Given the description of an element on the screen output the (x, y) to click on. 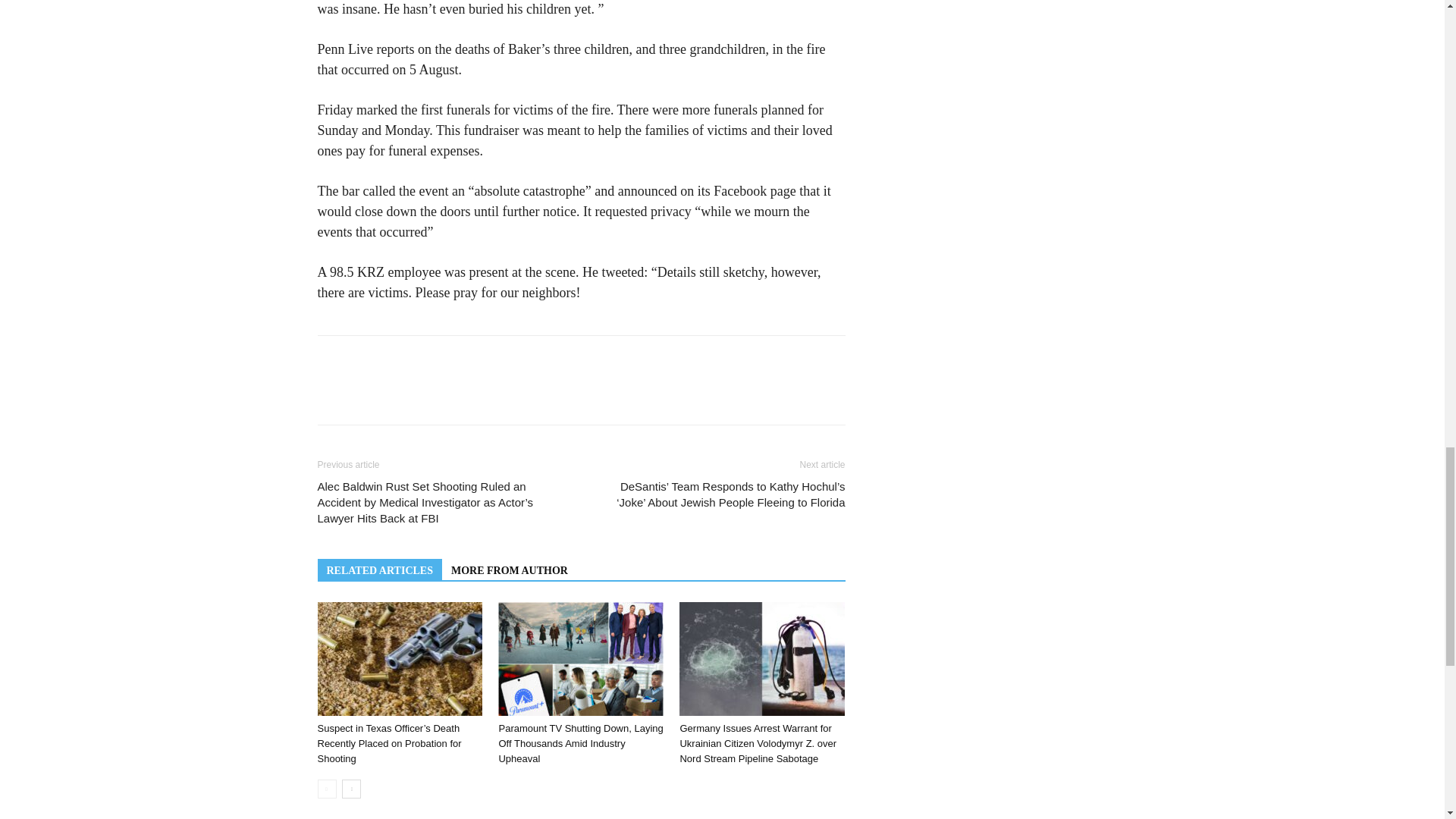
MORE FROM AUTHOR (509, 568)
RELATED ARTICLES (379, 568)
